Given the description of an element on the screen output the (x, y) to click on. 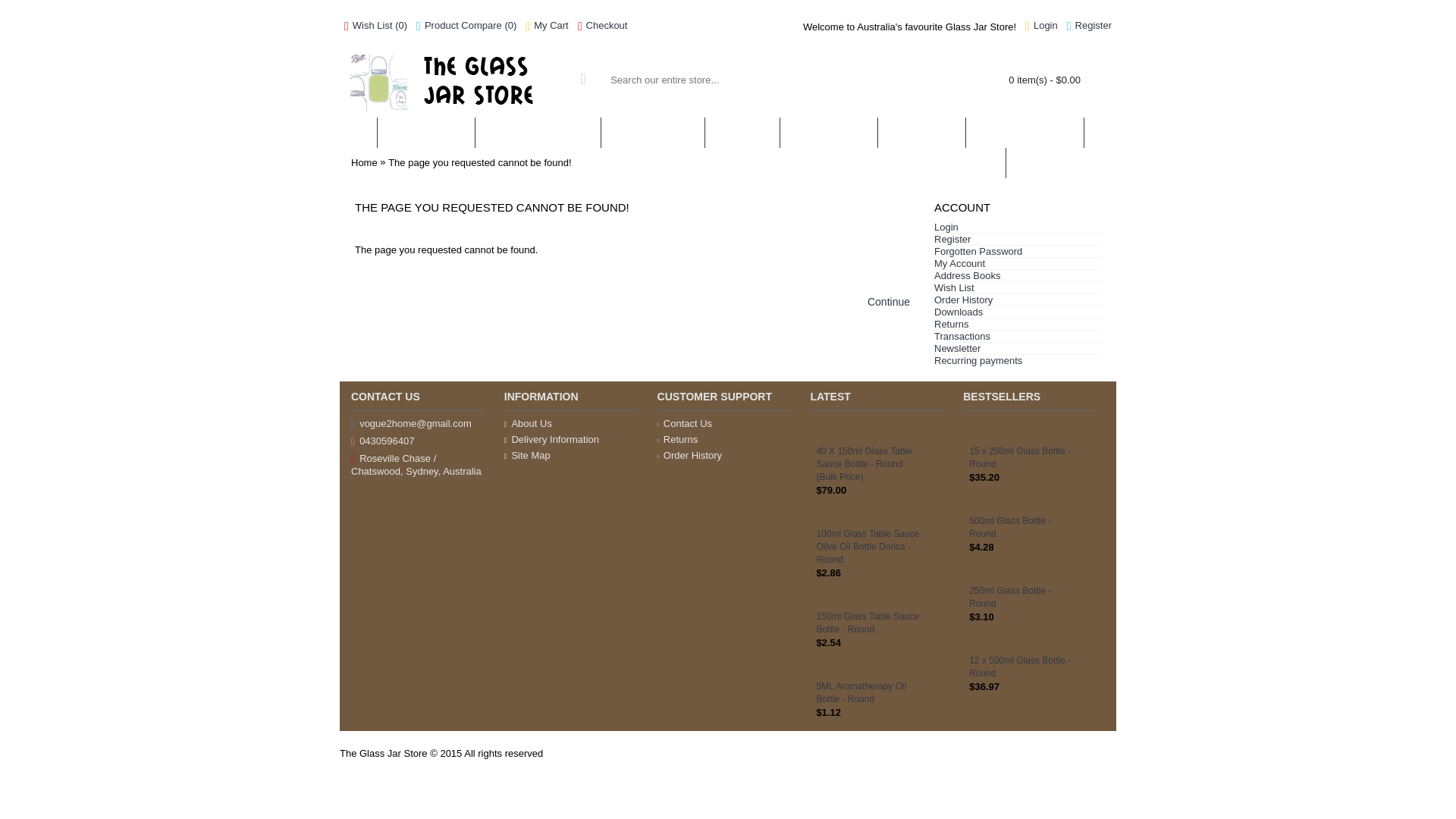
My Account Element type: text (1017, 263)
Newsletter Element type: text (1017, 348)
MASON JARS Element type: text (828, 132)
Recurring payments Element type: text (1017, 360)
Login Element type: text (1017, 227)
Downloads Element type: text (1017, 312)
Returns Element type: text (724, 439)
Register Element type: text (1089, 26)
0430596407 Element type: text (418, 441)
Continue Element type: text (888, 301)
0 item(s) - $0.00 Element type: text (1019, 79)
Home Element type: text (364, 162)
ROUND JARS Element type: text (425, 132)
Delivery Information Element type: text (571, 439)
Glass Jar Store Element type: hover (456, 79)
40 X 150ml Glass Table Sauce Bottle - Round (Bulk Price) Element type: text (869, 464)
Forgotten Password Element type: text (1017, 251)
Transactions Element type: text (1017, 336)
12 x 500ml Glass Bottle - Round Element type: text (1022, 667)
Order History Element type: text (724, 455)
SQUARE JARS Element type: text (652, 132)
500ml Glass Bottle - Round  Element type: hover (974, 503)
Login Element type: text (1041, 26)
Order History Element type: text (1017, 300)
40 X 150ml Glass Table Sauce Bottle - Round (Bulk Price) Element type: hover (820, 433)
Contact Us Element type: text (724, 423)
Checkout Element type: text (602, 26)
Wish List (0) Element type: text (375, 26)
HEXAGANOL JARS Element type: text (537, 132)
About Us Element type: text (571, 423)
15 x 250ml Glass Bottle - Round Element type: text (1022, 458)
BOTTLES Element type: text (742, 132)
Address Books Element type: text (1017, 275)
150ml Glass Table Sauce Bottle - Round Element type: text (869, 623)
INFORMATION Element type: text (1061, 162)
100ml Glass Table Sauce Olive Oil Bottle Dorica - Round Element type: text (869, 547)
Register Element type: text (1017, 239)
5ML Aromatherapy Oil Bottle - Round Element type: hover (820, 668)
250ml Glass Bottle - Round Element type: text (1022, 597)
500ml Glass Bottle - Round Element type: text (1022, 527)
Wish List Element type: text (1017, 288)
AROMATHERAPY Element type: text (1024, 132)
250ml Glass Bottle - Round  Element type: hover (974, 572)
150ml Glass Table Sauce Bottle - Round  Element type: hover (820, 598)
15 x 250ml Glass Bottle - Round  Element type: hover (974, 433)
5ML Aromatherapy Oil Bottle - Round Element type: text (869, 693)
SWING TOP Element type: text (921, 132)
Product Compare (0) Element type: text (465, 26)
12 x 500ml Glass Bottle - Round  Element type: hover (974, 642)
Returns Element type: text (1017, 324)
The page you requested cannot be found! Element type: text (479, 162)
100ml Glass Table Sauce Olive Oil Bottle Dorica - Round  Element type: hover (820, 516)
My Cart Element type: text (546, 26)
Site Map Element type: text (571, 455)
